Given the description of an element on the screen output the (x, y) to click on. 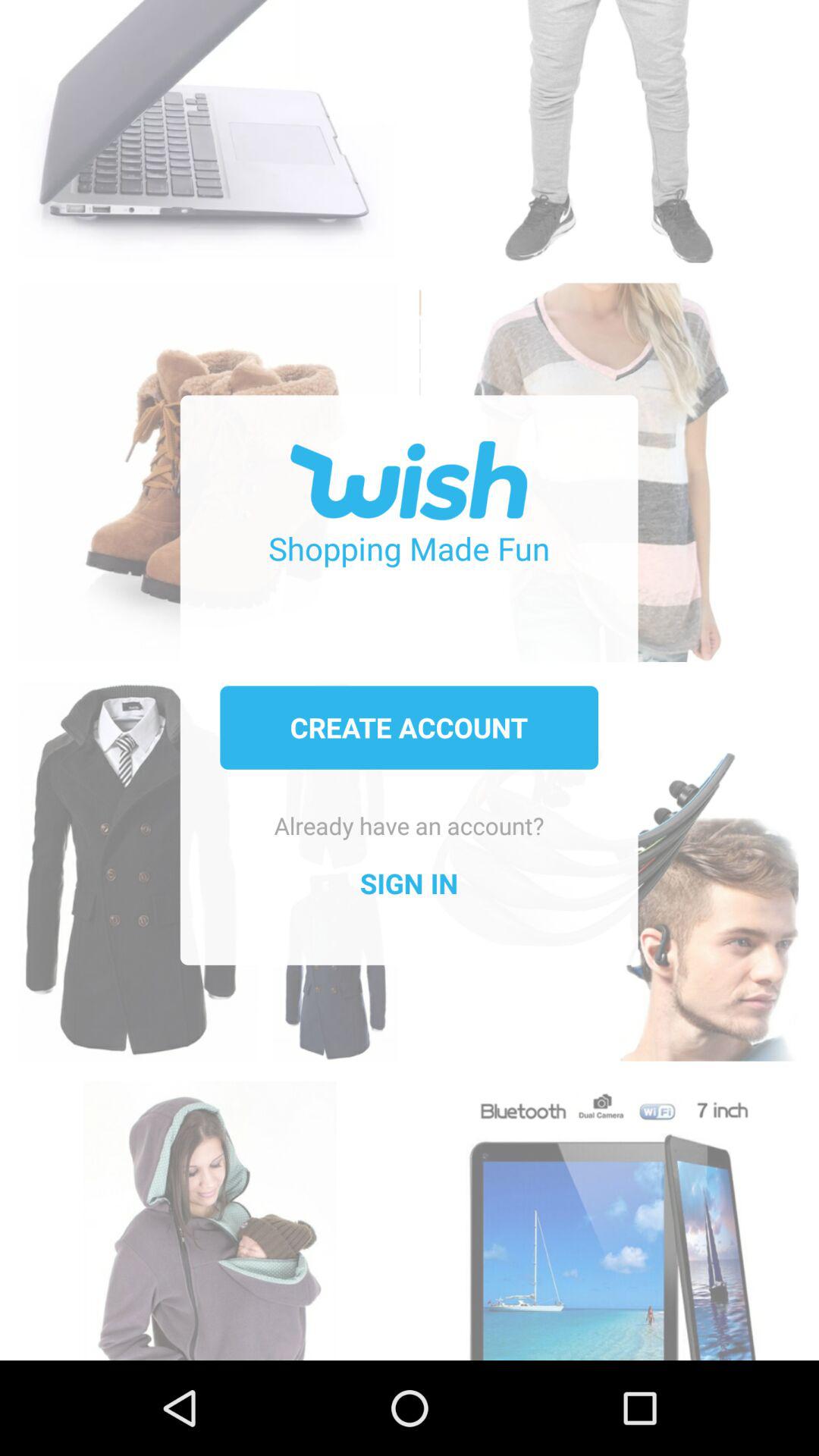
open create account (409, 727)
